Given the description of an element on the screen output the (x, y) to click on. 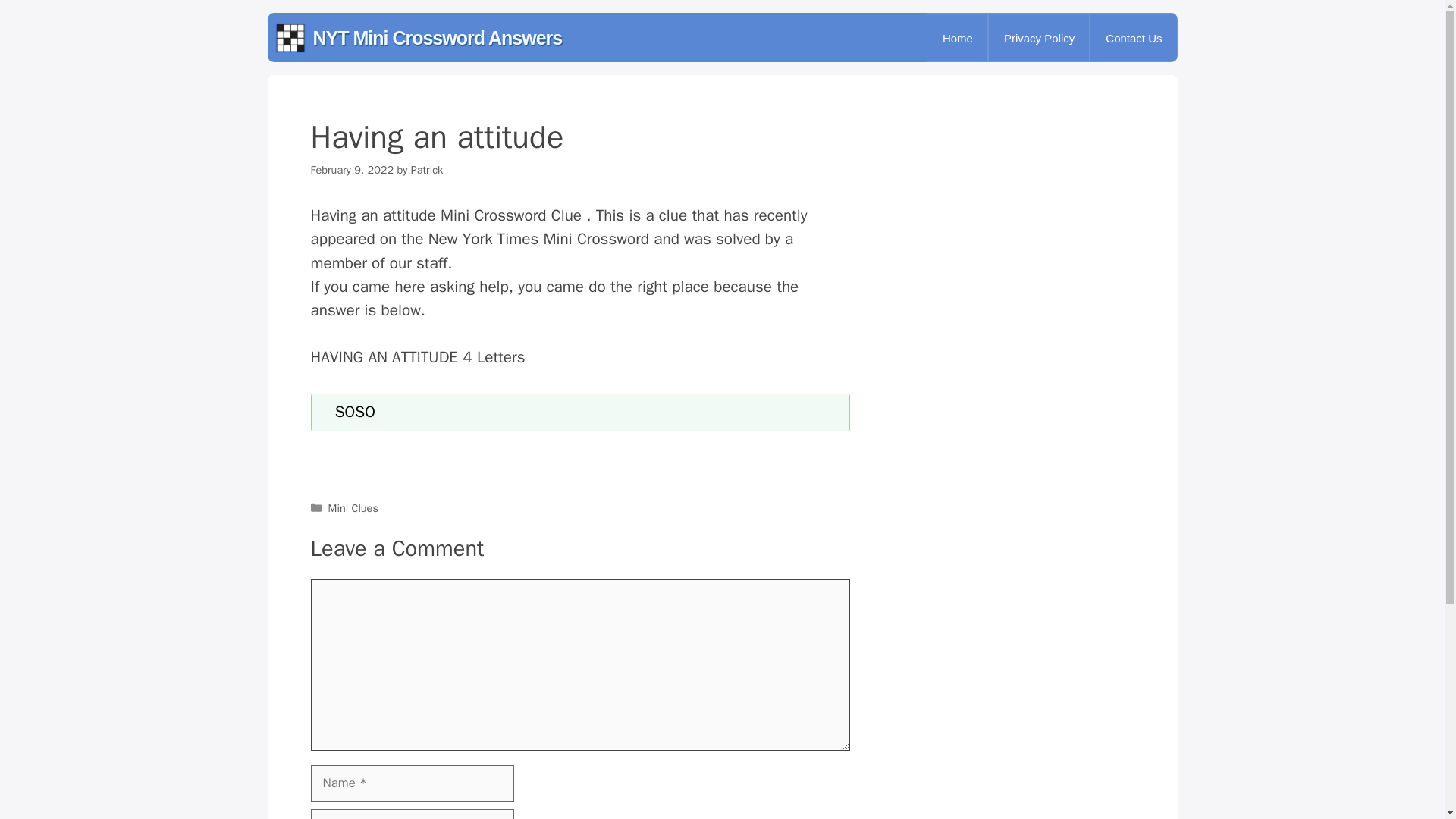
Home (957, 37)
NYT Mini Crossword Answers (437, 37)
View all posts by Patrick (427, 169)
Privacy Policy (1038, 37)
Mini Clues (353, 508)
Contact Us (1133, 37)
Patrick (427, 169)
